Given the description of an element on the screen output the (x, y) to click on. 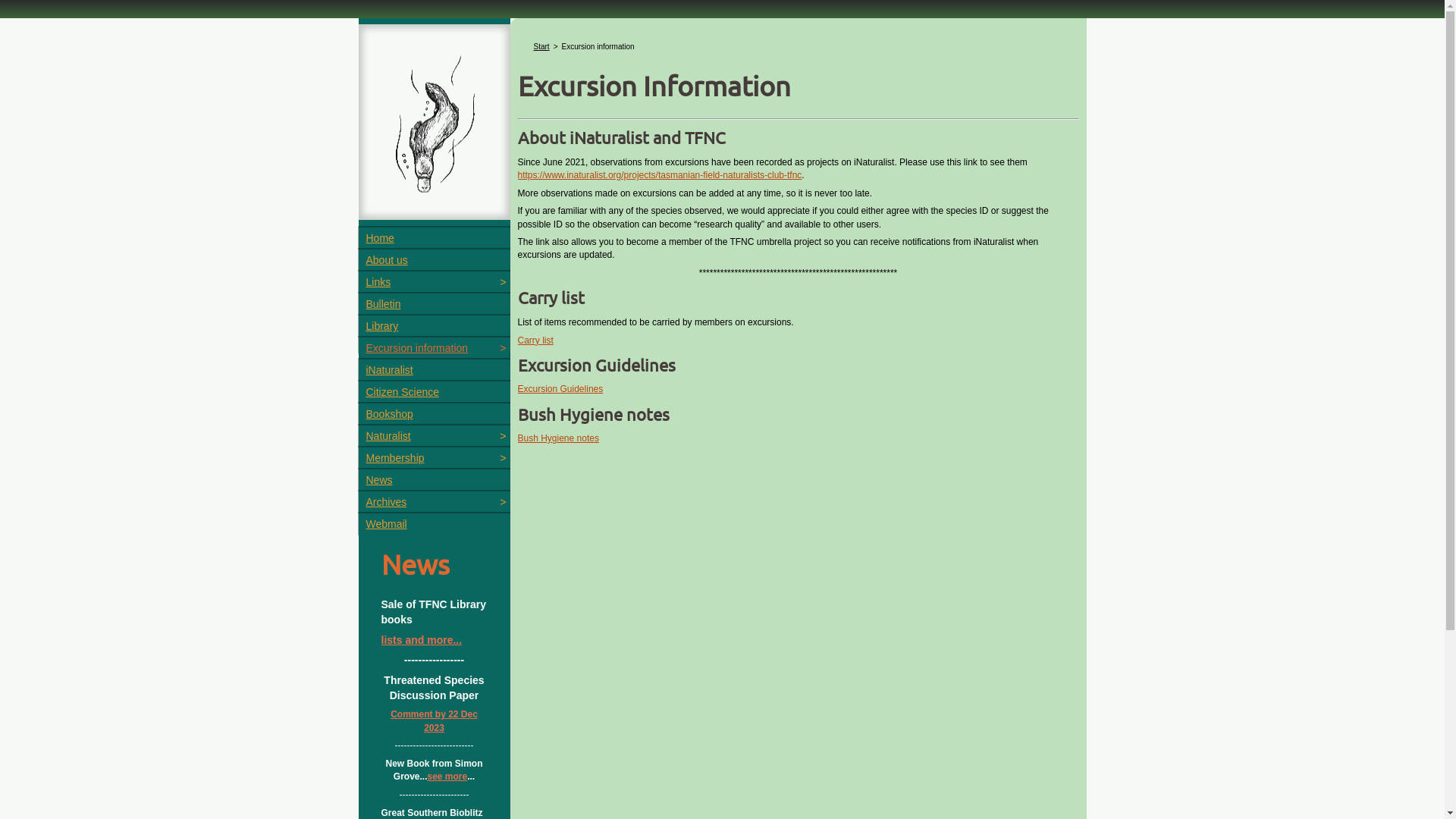
>
Archives Element type: text (433, 502)
iNaturalist Element type: text (433, 370)
Home Element type: text (433, 238)
22 Element type: text (1004, 28)
6 Element type: text (688, 28)
lists and more... Element type: text (420, 639)
21 Element type: text (984, 28)
19 Element type: text (945, 28)
12 Element type: text (807, 28)
Library Element type: text (433, 326)
>
Excursion information Element type: text (433, 348)
Bulletin Element type: text (433, 304)
14 Element type: text (846, 28)
16 Element type: text (886, 28)
20 Element type: text (965, 28)
8 Element type: text (728, 28)
Carry list Element type: text (534, 340)
3 Element type: text (629, 28)
17 Element type: text (905, 28)
About us Element type: text (433, 260)
News Element type: text (433, 480)
10 Element type: text (767, 28)
>
Links Element type: text (433, 282)
7 Element type: text (708, 28)
5 Element type: text (669, 28)
1 Element type: text (590, 28)
18 Element type: text (925, 28)
11 Element type: text (787, 28)
see more Element type: text (446, 776)
Excursion Guidelines Element type: text (559, 388)
Bush Hygiene notes Element type: text (557, 438)
>
Naturalist Element type: text (433, 436)
Start Element type: text (541, 46)
9 Element type: text (748, 28)
>
Membership Element type: text (433, 458)
Comment by 22 Dec 2023 Element type: text (433, 720)
Bookshop Element type: text (433, 414)
2 Element type: text (610, 28)
4 Element type: text (649, 28)
Webmail Element type: text (433, 524)
13 Element type: text (827, 28)
15 Element type: text (866, 28)
Citizen Science Element type: text (433, 392)
